Given the description of an element on the screen output the (x, y) to click on. 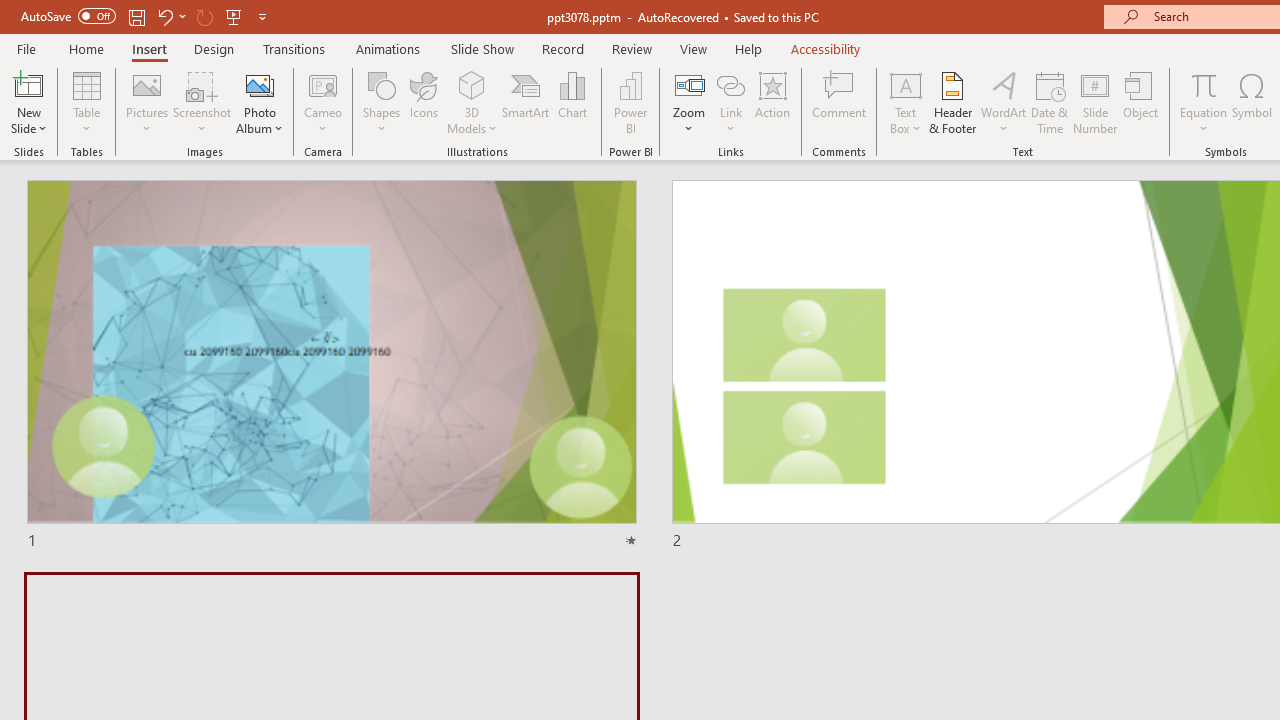
Comment (839, 102)
Equation (1203, 84)
Slide Number (1095, 102)
Header & Footer... (952, 102)
Equation (1203, 102)
Date & Time... (1050, 102)
Link (731, 102)
New Photo Album... (259, 84)
